Given the description of an element on the screen output the (x, y) to click on. 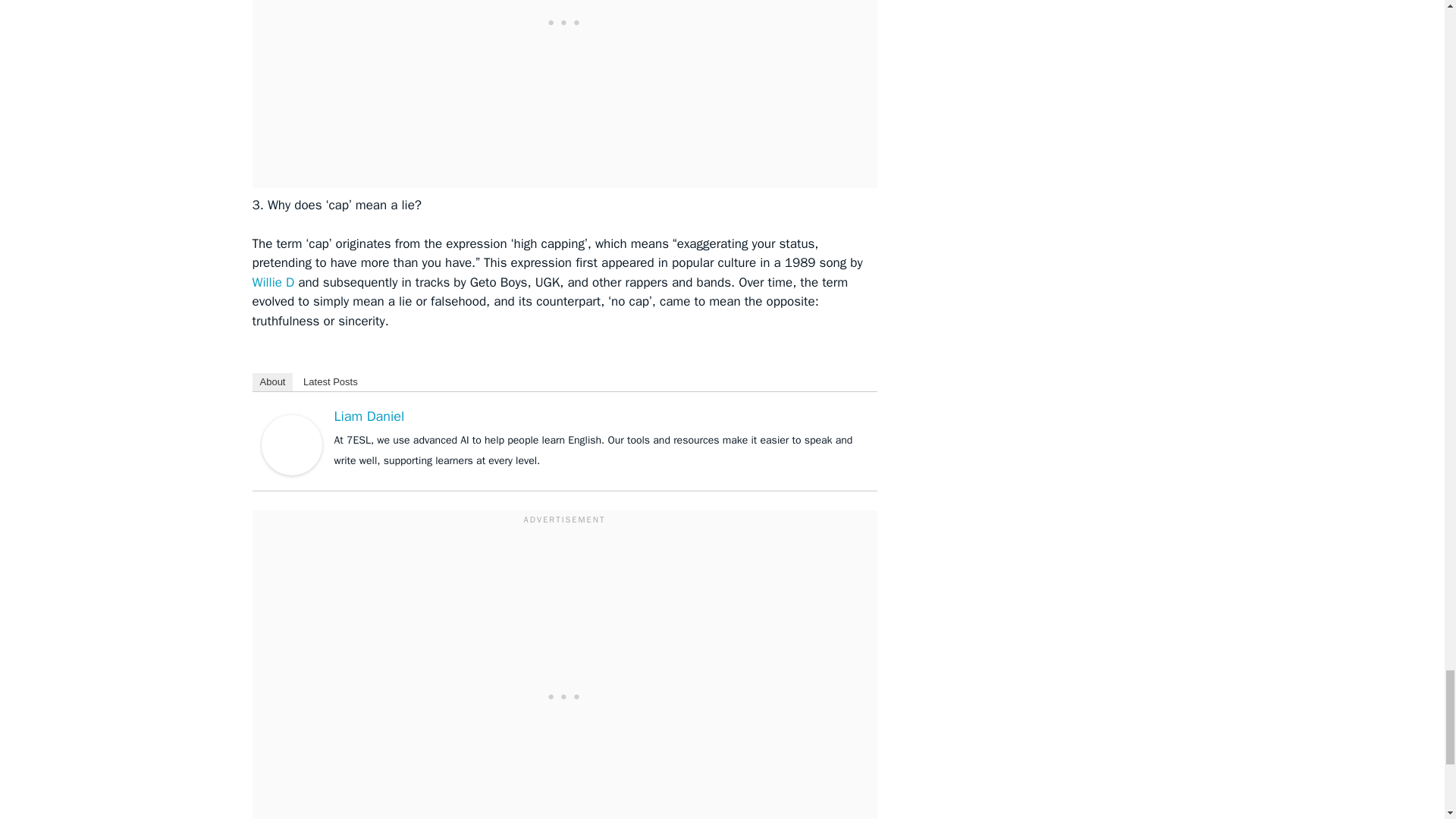
Liam Daniel (368, 416)
Willie D (272, 282)
Latest Posts (330, 382)
Liam Daniel (290, 443)
About (271, 382)
